Given the description of an element on the screen output the (x, y) to click on. 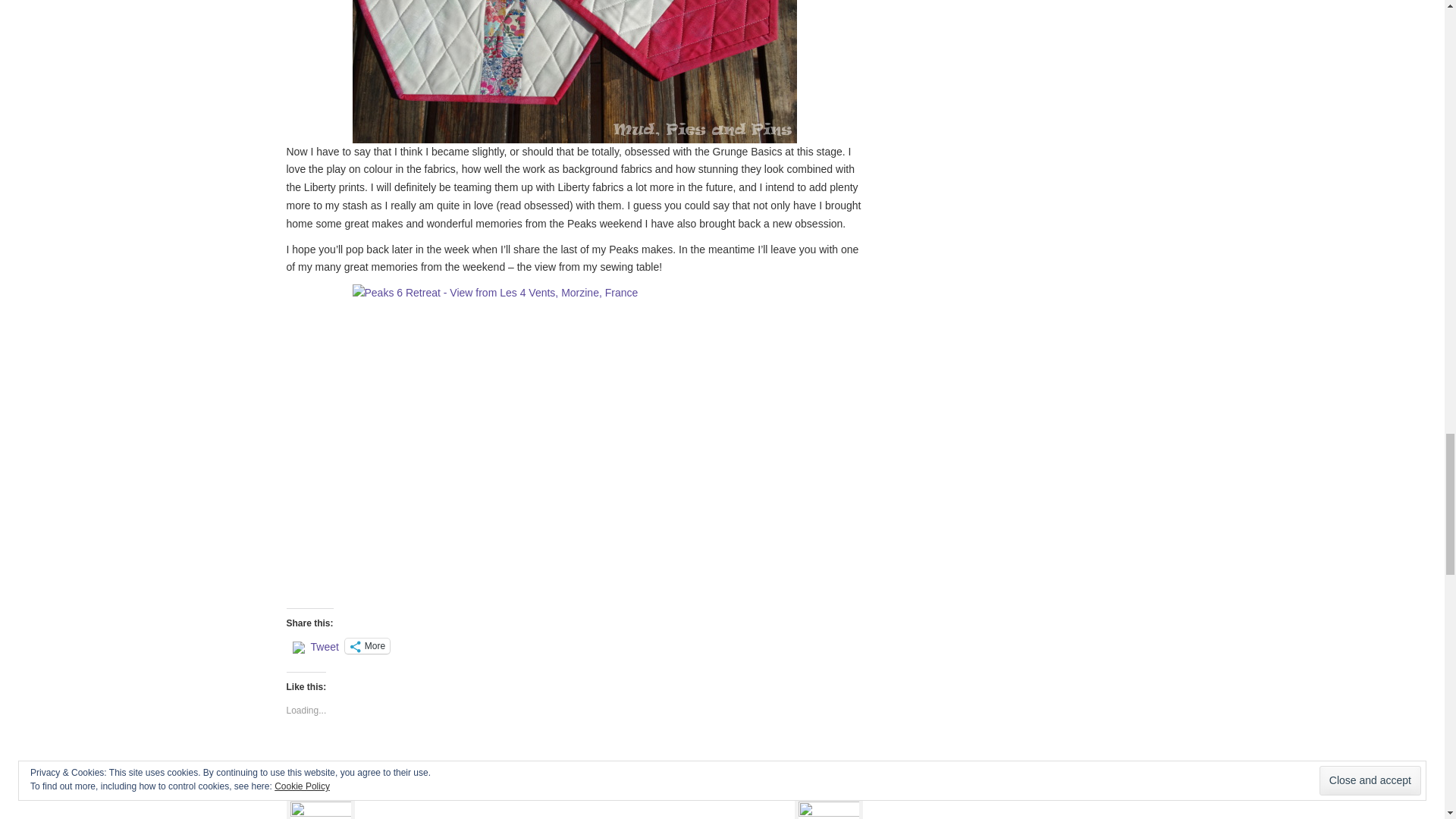
Tweet (325, 644)
table mats (456, 774)
Liberty Tana Lawn (363, 774)
More (367, 645)
Peaks (418, 774)
